Given the description of an element on the screen output the (x, y) to click on. 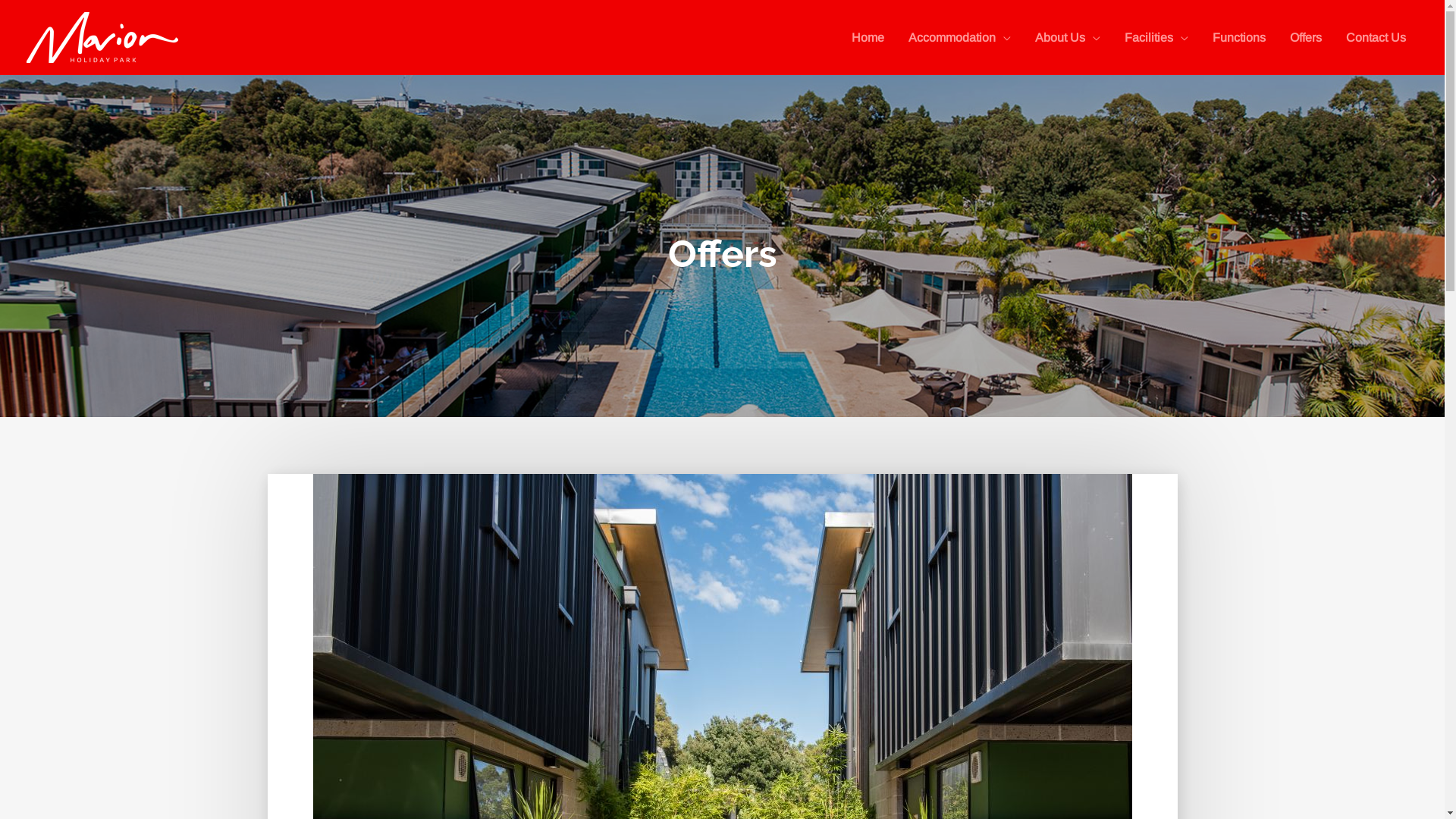
Accommodation Element type: text (959, 37)
About Us Element type: text (1067, 37)
Facilities Element type: text (1156, 37)
Offers Element type: text (1305, 37)
Home Element type: text (867, 37)
Contact Us Element type: text (1375, 37)
Functions Element type: text (1238, 37)
